Given the description of an element on the screen output the (x, y) to click on. 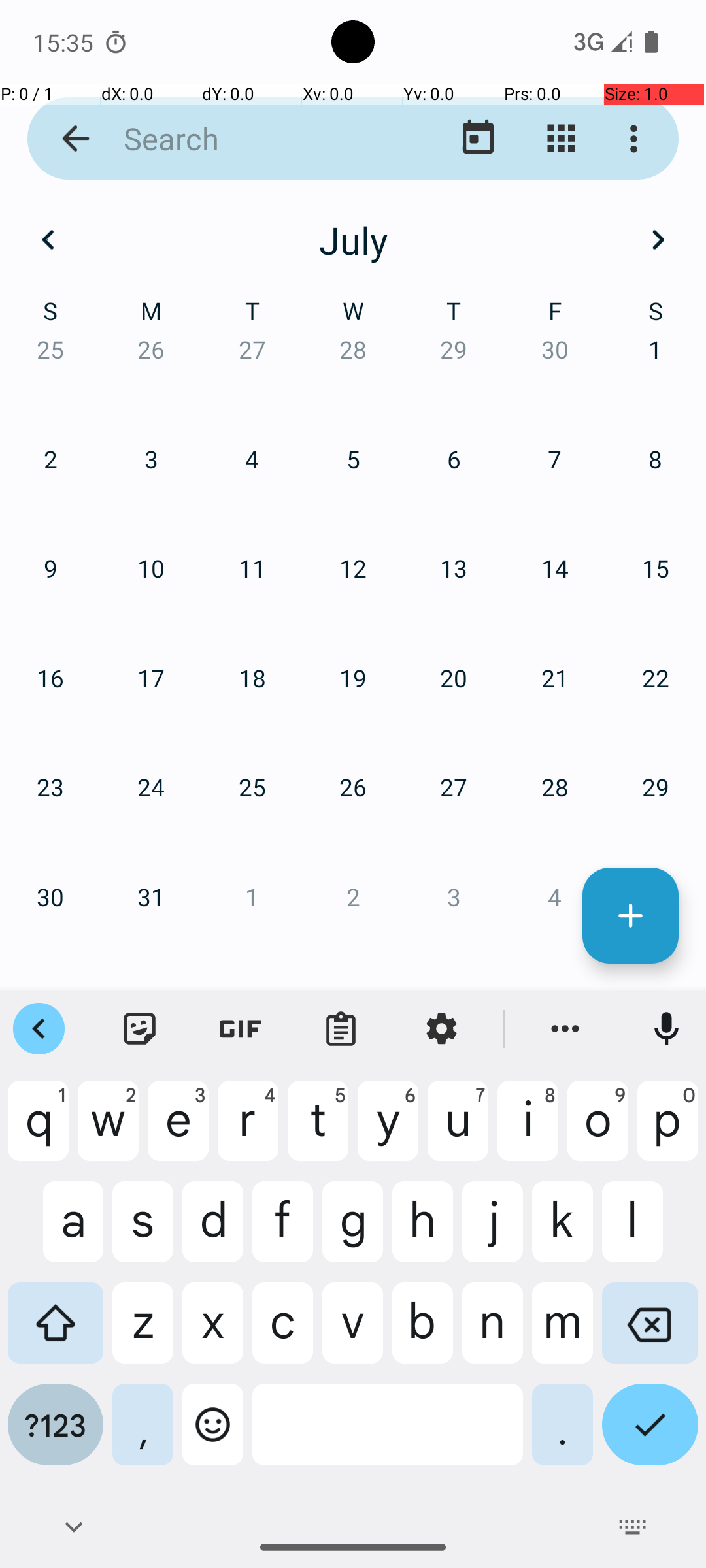
July Element type: android.widget.TextView (352, 239)
